Given the description of an element on the screen output the (x, y) to click on. 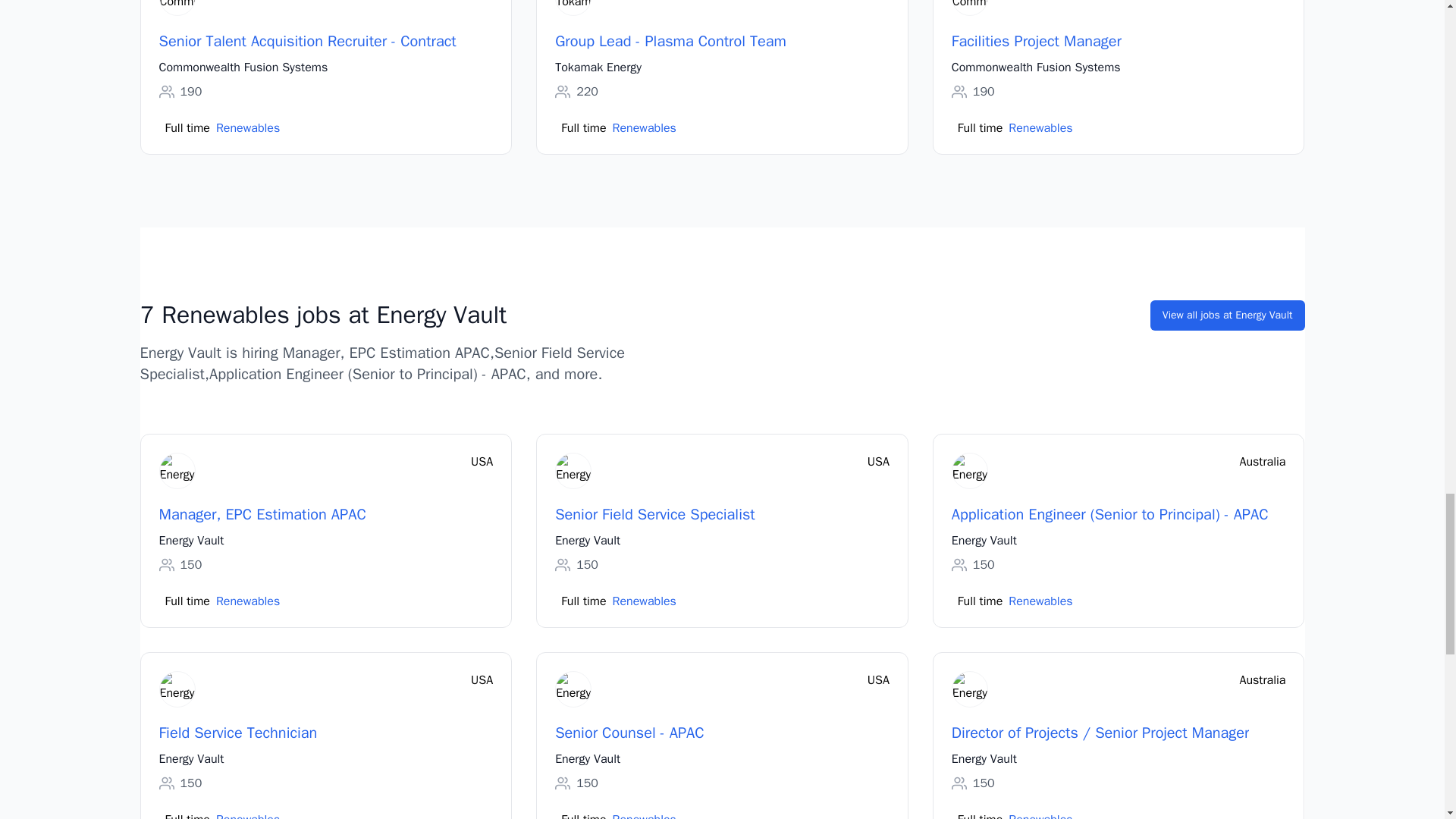
Energy Vault (984, 540)
Energy Vault (191, 540)
Renewables (247, 601)
Facilities Project Manager (1036, 41)
Senior Talent Acquisition Recruiter - Contract (307, 41)
Commonwealth Fusion Systems (1036, 67)
Senior Field Service Specialist (654, 514)
Renewables (247, 127)
Renewables (1040, 601)
Manager, EPC Estimation APAC (262, 514)
